Given the description of an element on the screen output the (x, y) to click on. 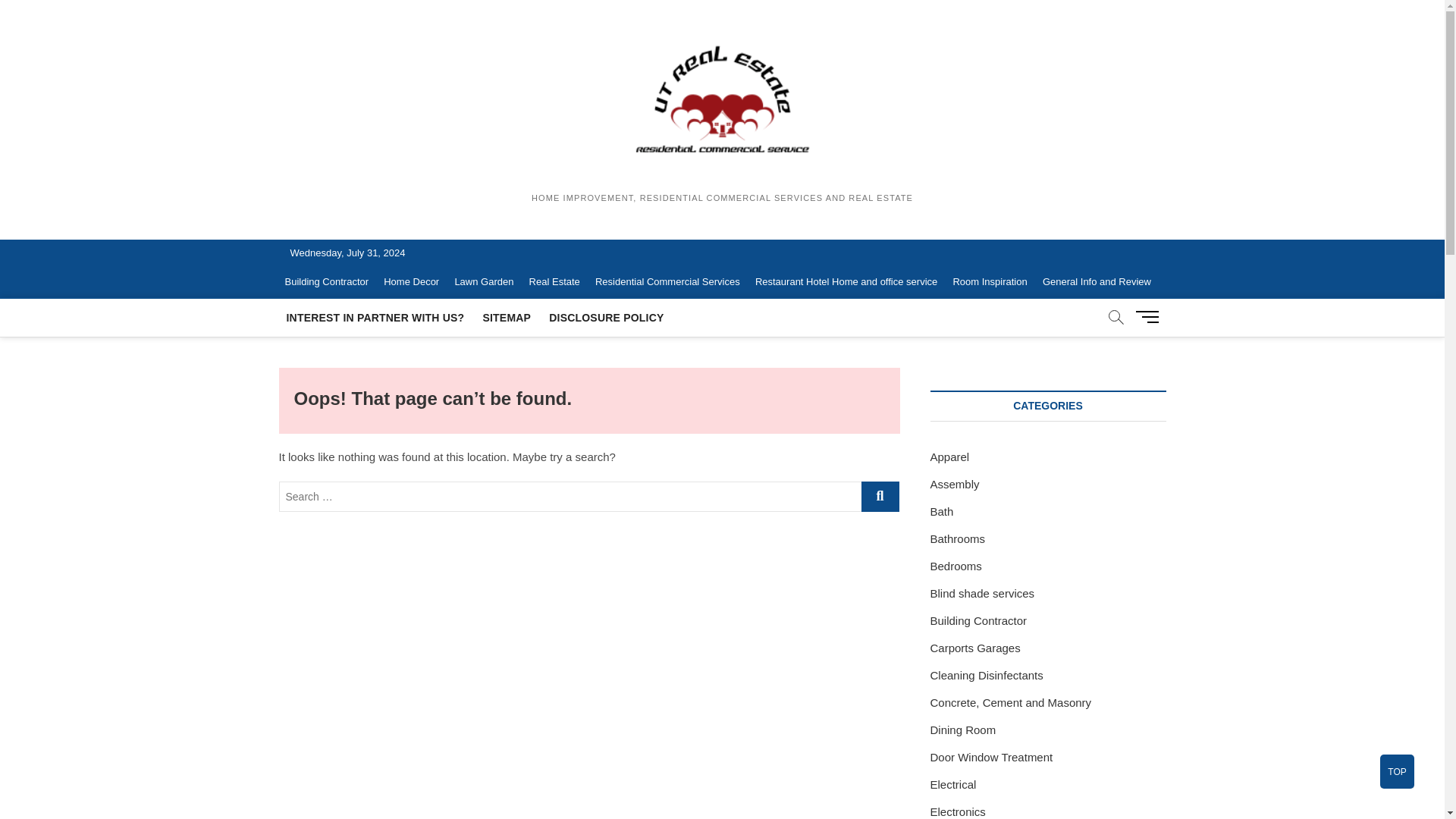
Lawn Garden (483, 281)
Residential Commercial Services (667, 281)
Home Decor (411, 281)
Real Estate (554, 281)
Building Contractor (327, 281)
